Given the description of an element on the screen output the (x, y) to click on. 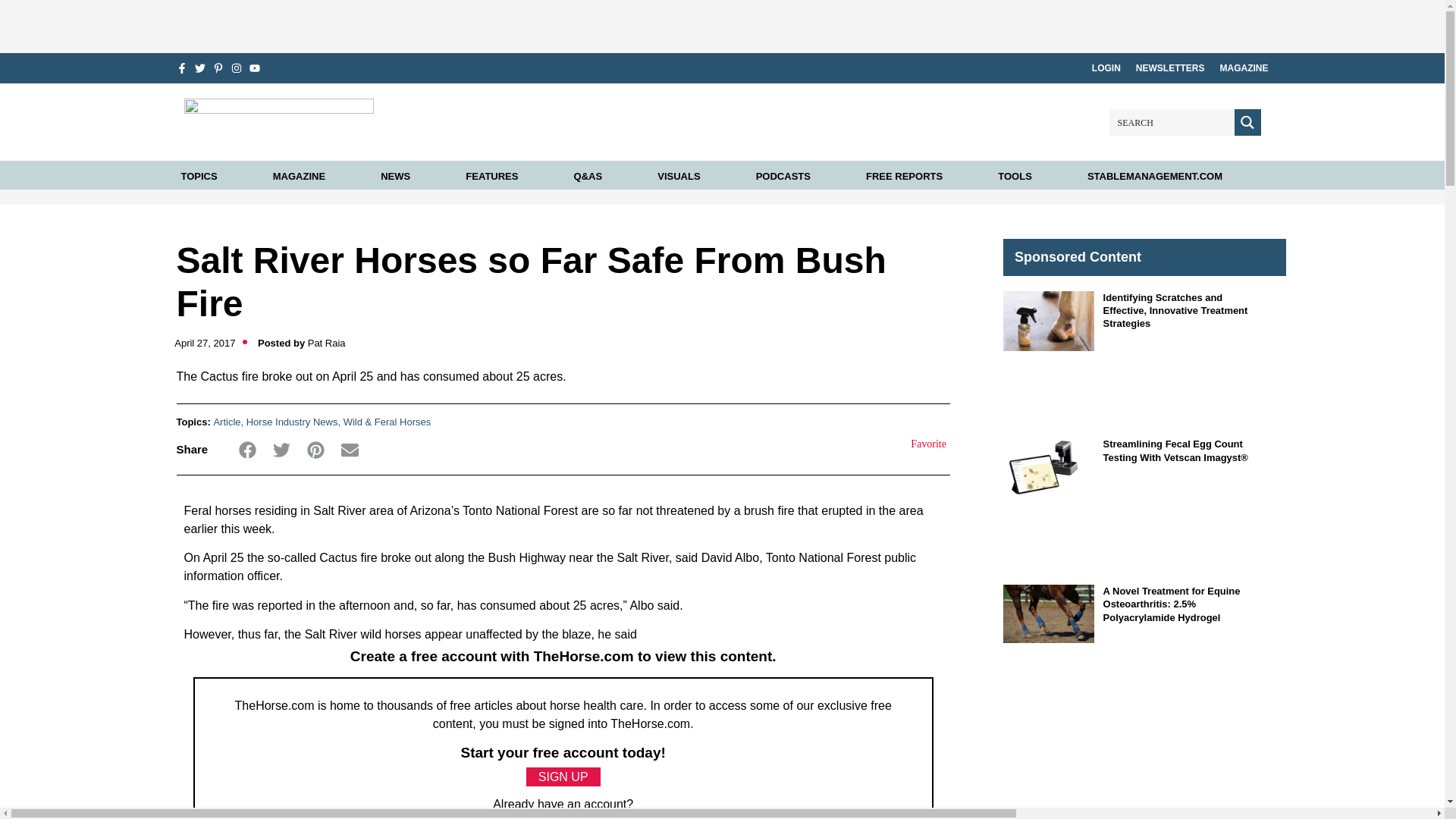
NEWSLETTERS (1170, 68)
MAGAZINE (298, 176)
LOGIN (1106, 68)
TOPICS (198, 176)
MAGAZINE (1244, 68)
Bookmark This (919, 444)
